Given the description of an element on the screen output the (x, y) to click on. 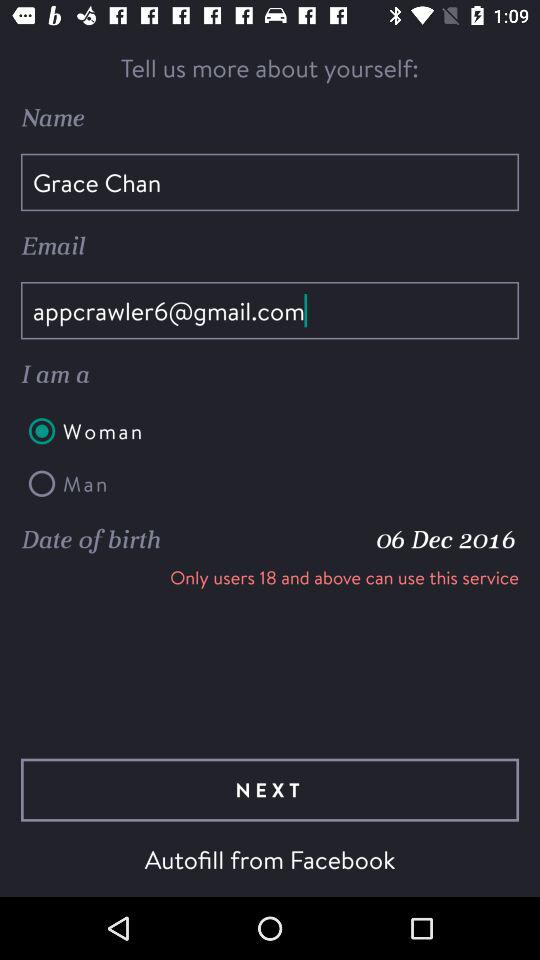
press the grace chan item (269, 182)
